Given the description of an element on the screen output the (x, y) to click on. 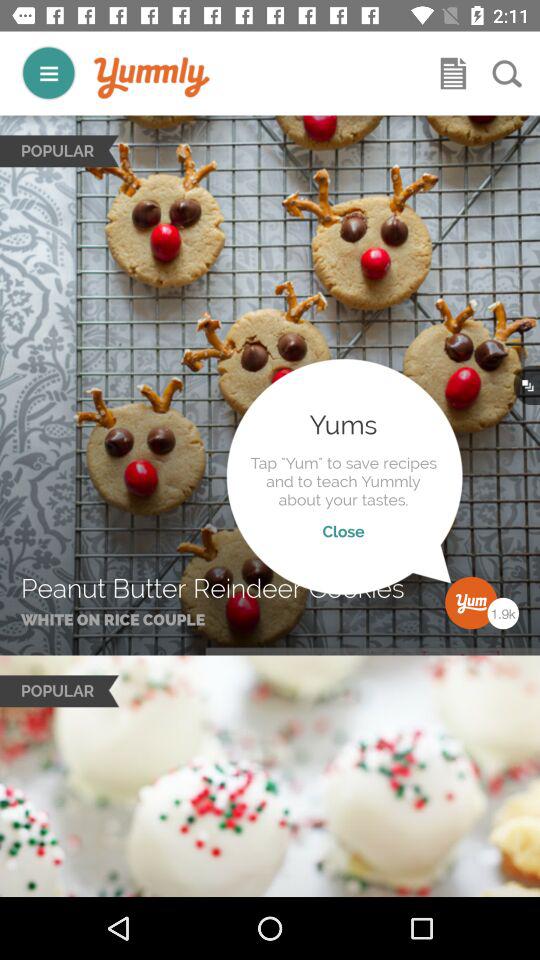
to go home page (152, 77)
